Given the description of an element on the screen output the (x, y) to click on. 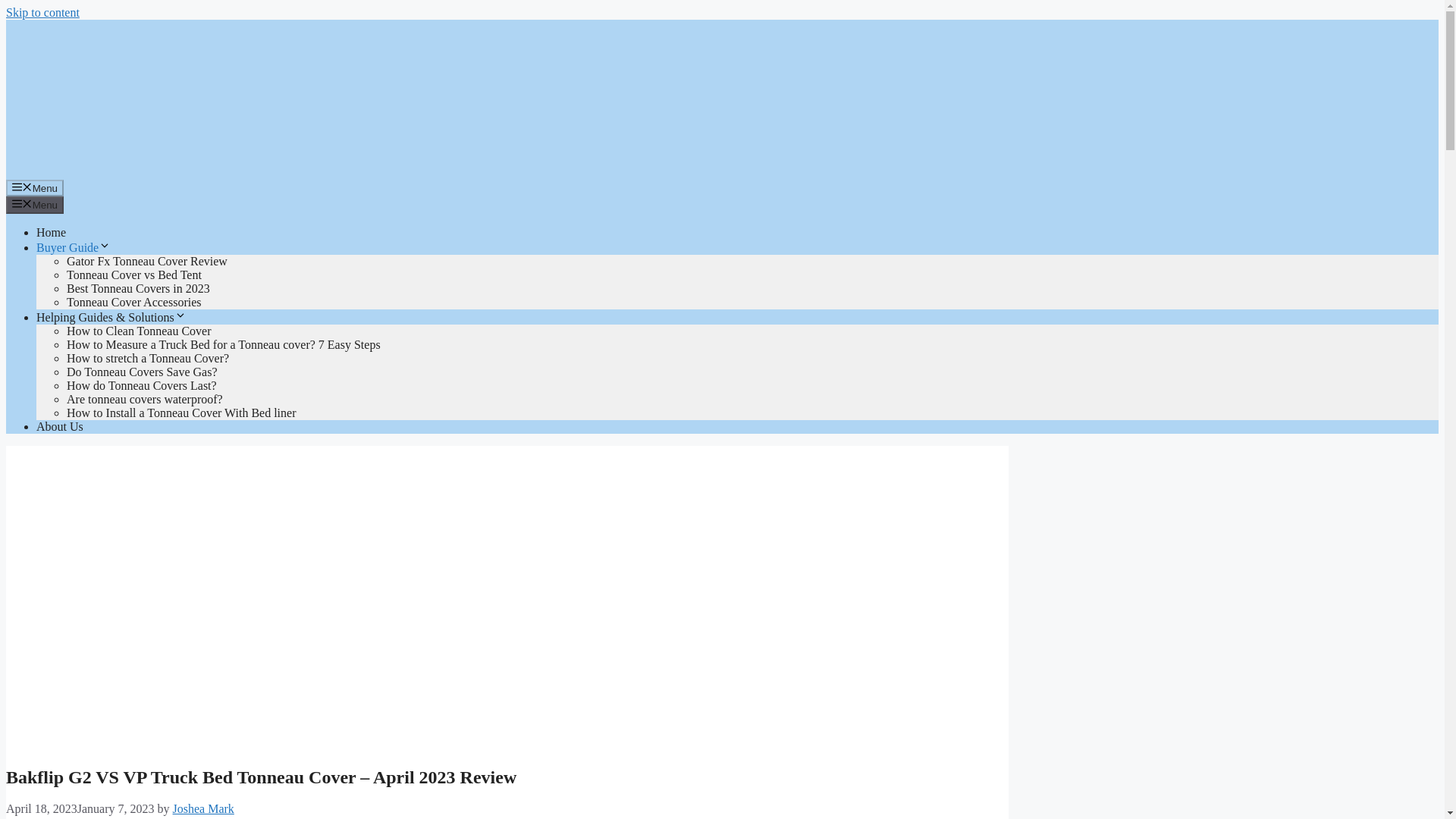
Skip to content (42, 11)
Gator Fx Tonneau Cover Review (146, 260)
Menu (34, 187)
Joshea Mark (203, 808)
Are tonneau covers waterproof? (144, 399)
Tonneau Cover vs Bed Tent (134, 274)
Tonneau Cover Accessories (134, 301)
Buyer Guide (73, 246)
Home (50, 232)
How to Install a Tonneau Cover With Bed liner (180, 412)
How to Measure a Truck Bed for a Tonneau cover? 7 Easy Steps (223, 344)
Menu (34, 204)
How do Tonneau Covers Last? (141, 385)
How to stretch a Tonneau Cover? (147, 358)
About Us (59, 426)
